Given the description of an element on the screen output the (x, y) to click on. 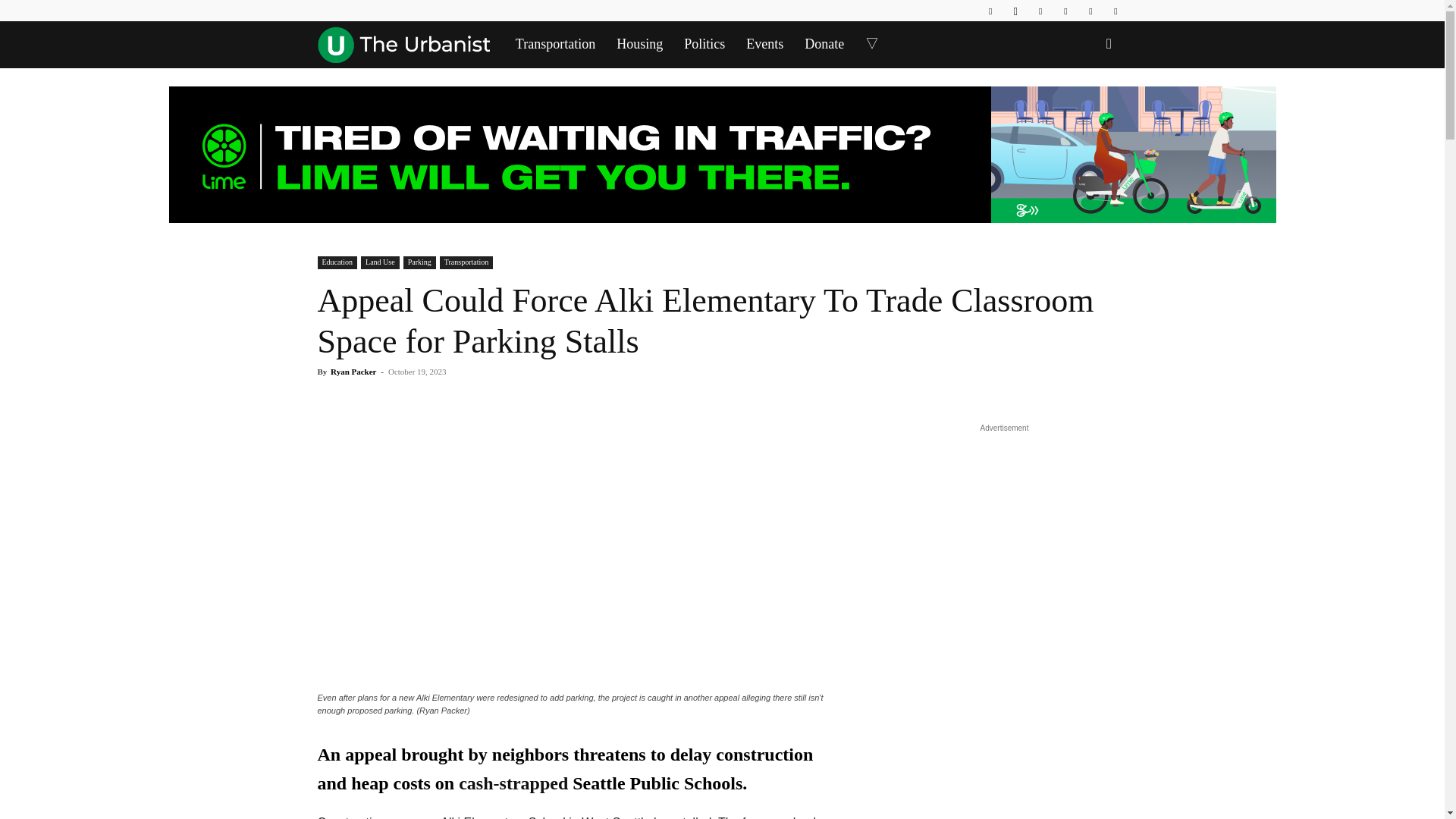
Facebook (989, 10)
RSS (1065, 10)
Twitter (1090, 10)
Linkedin (1040, 10)
Instagram (1015, 10)
Youtube (1114, 10)
The Urbanist (403, 44)
